Given the description of an element on the screen output the (x, y) to click on. 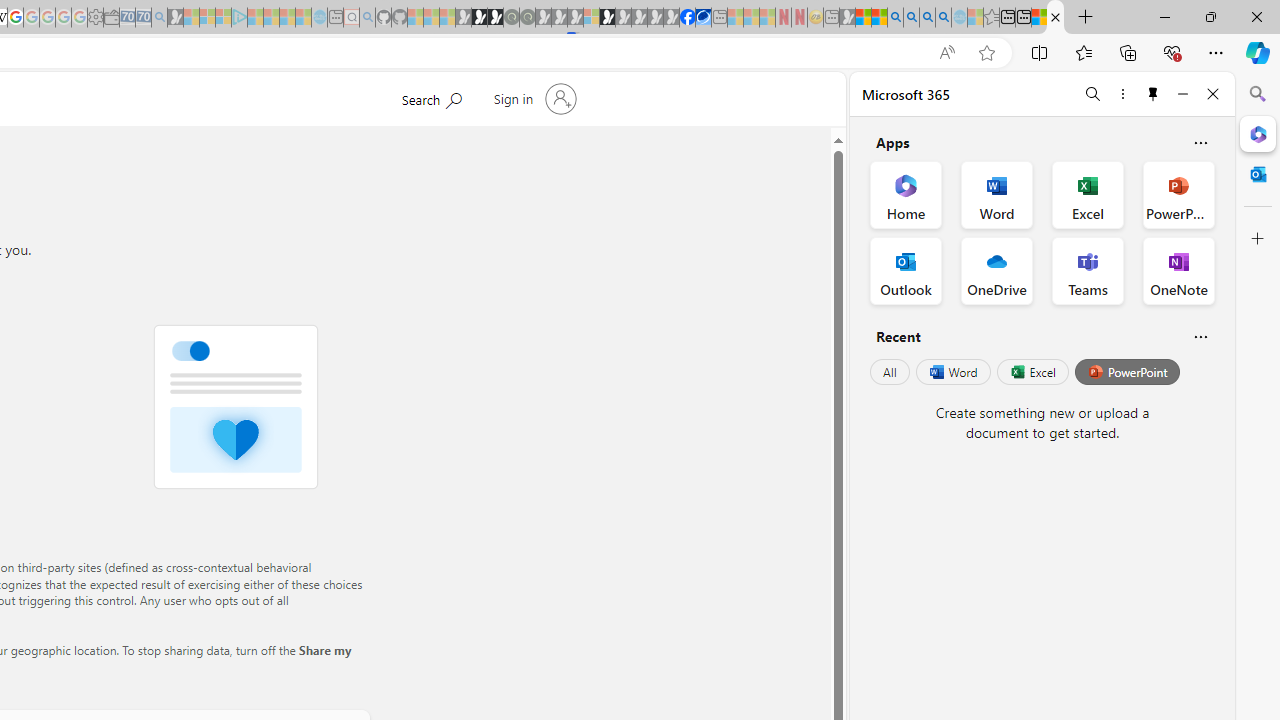
PowerPoint Office App (1178, 194)
Excel Office App (1087, 194)
Search Microsoft.com (431, 97)
Home | Sky Blue Bikes - Sky Blue Bikes - Sleeping (319, 17)
OneNote Office App (1178, 270)
